Given the description of an element on the screen output the (x, y) to click on. 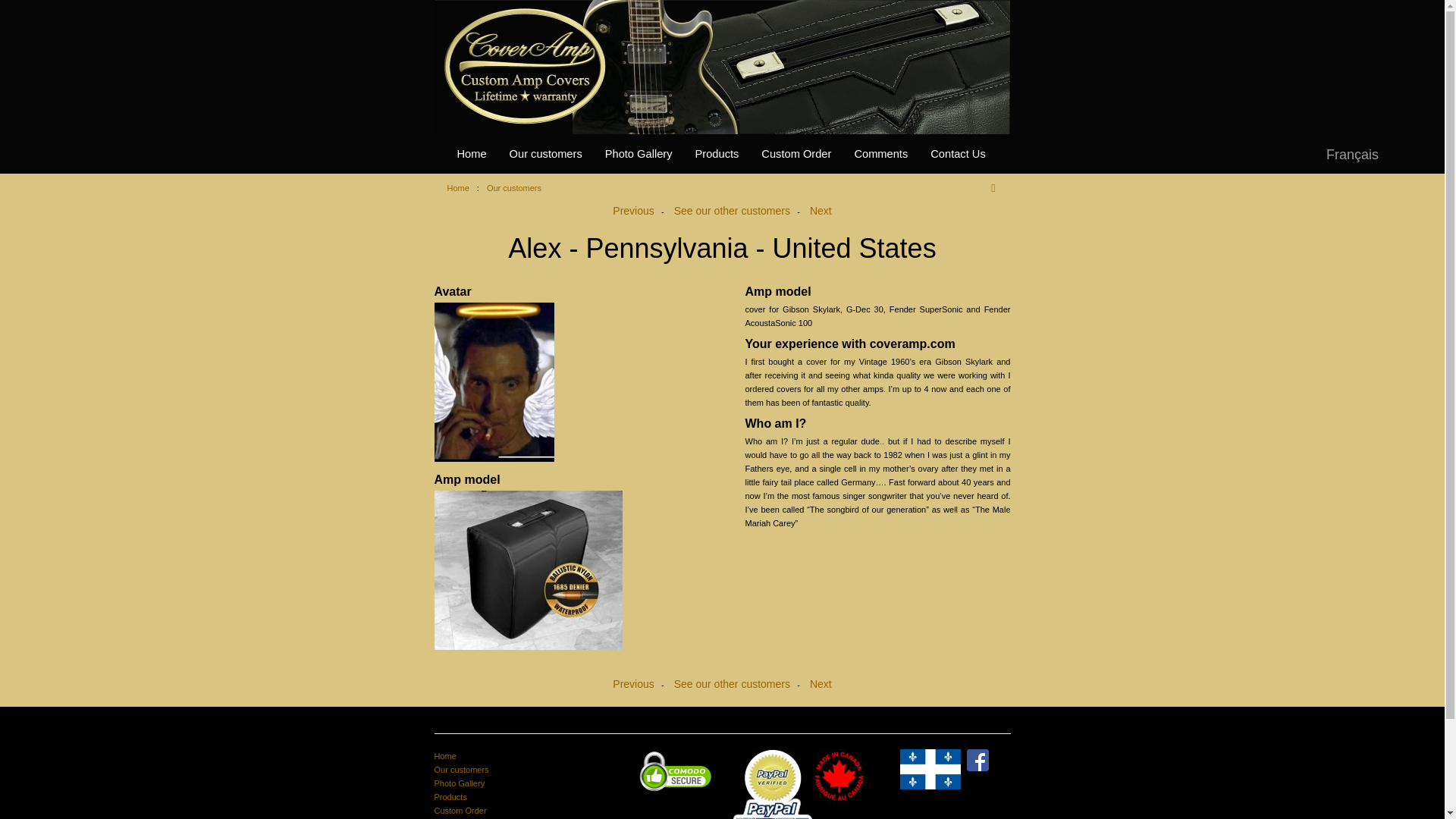
Follow us on Facebook (977, 758)
Contact Us (957, 153)
Custom Order (796, 153)
See our other customers (732, 210)
Our customers (513, 187)
Alex (565, 381)
Next (820, 210)
Our customers (460, 768)
Photo Gallery (639, 153)
Custom Order (459, 809)
Products (717, 153)
Products (449, 796)
Home (457, 187)
